Given the description of an element on the screen output the (x, y) to click on. 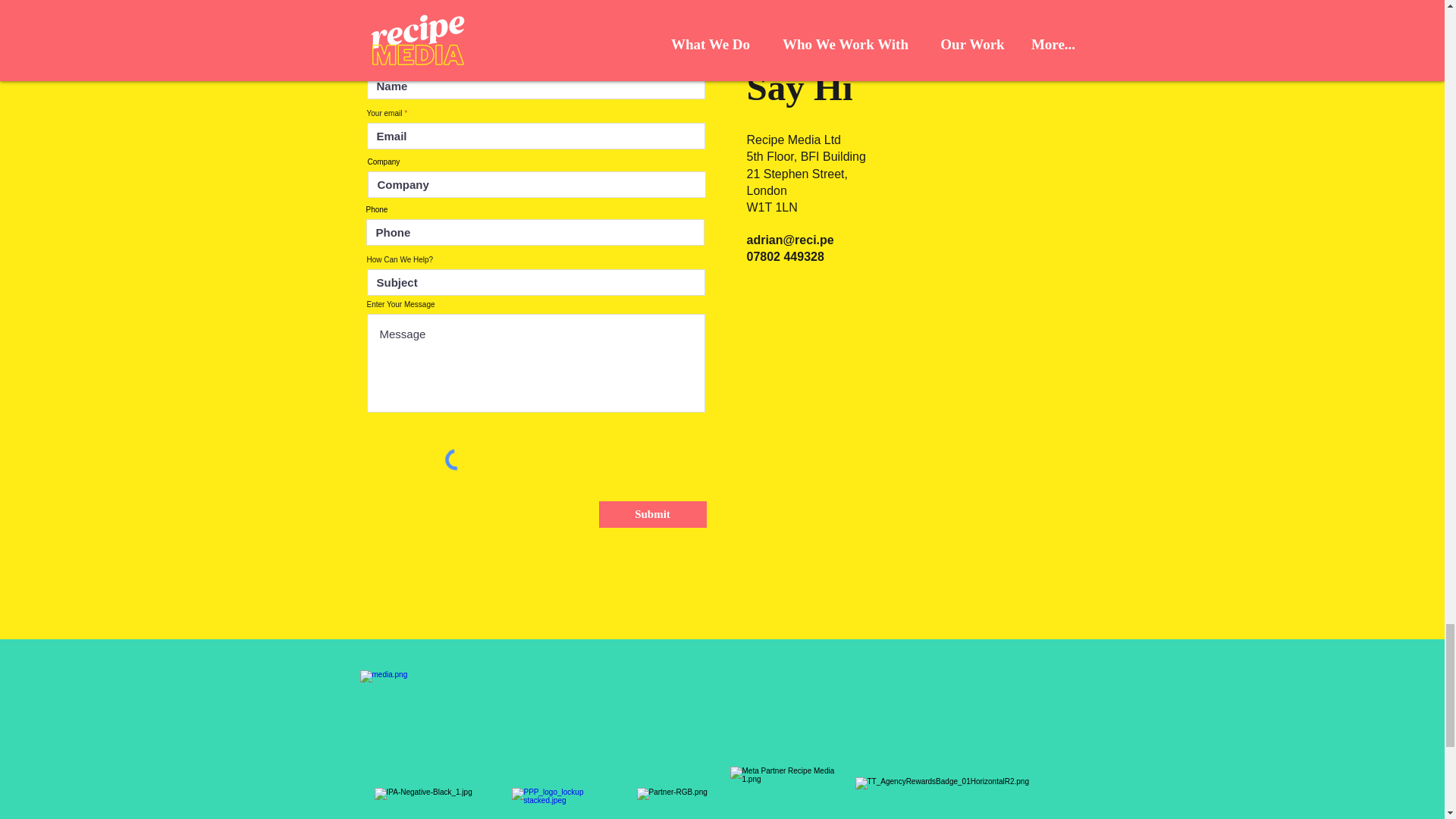
Submit (652, 514)
